Given the description of an element on the screen output the (x, y) to click on. 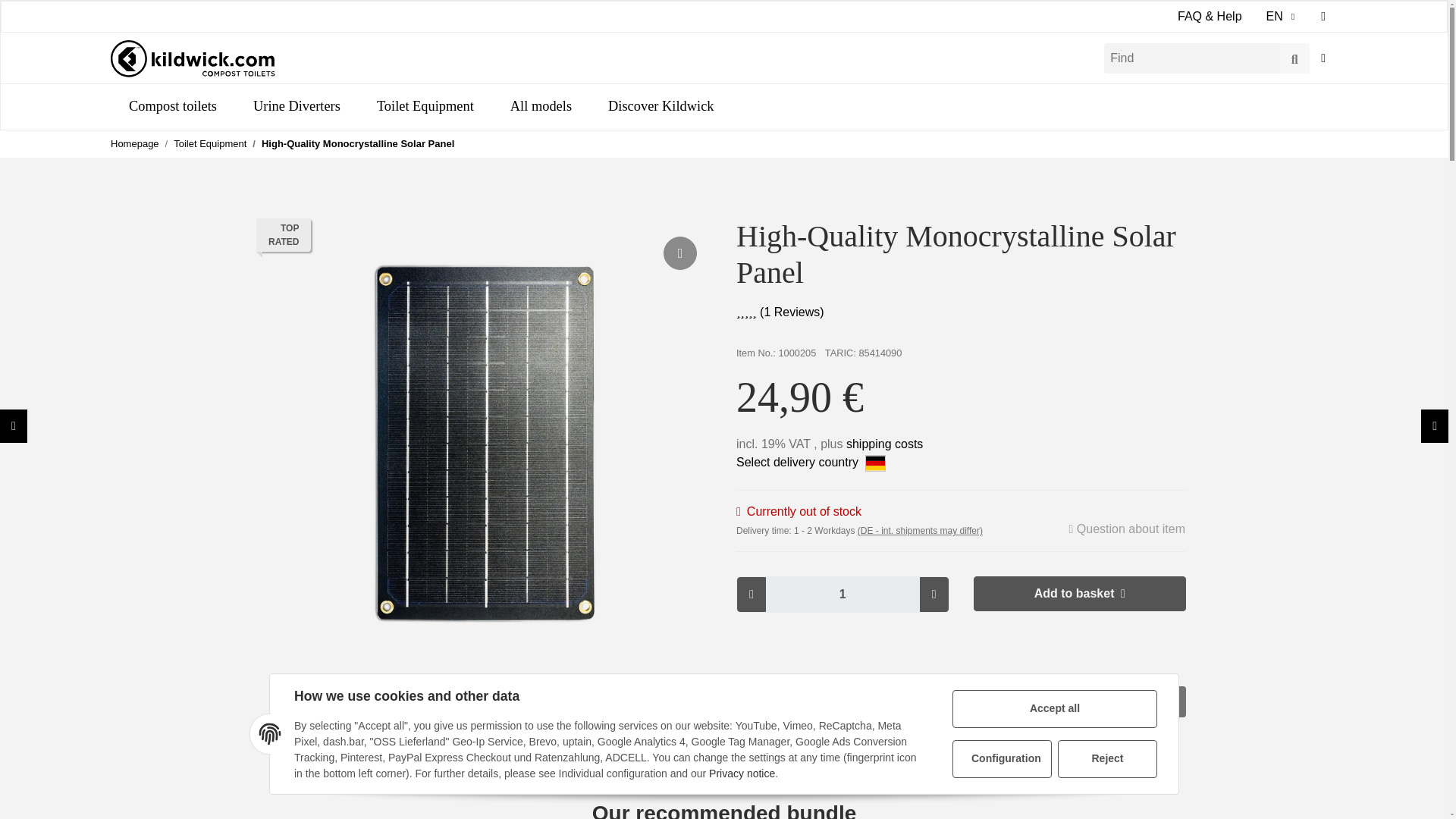
Compost toilets (172, 106)
Compost toilets (172, 106)
Toilet Equipment (209, 143)
Discover Kildwick (660, 106)
EN (1280, 16)
Toilet Equipment (425, 106)
Compost toilets (172, 106)
All models (540, 106)
Homepage (134, 143)
High-Quality Monocrystalline Solar Panel (358, 143)
Urine Diverters (296, 106)
Kildwick.com (192, 58)
1 (842, 594)
Toilet Equipment (425, 106)
